Given the description of an element on the screen output the (x, y) to click on. 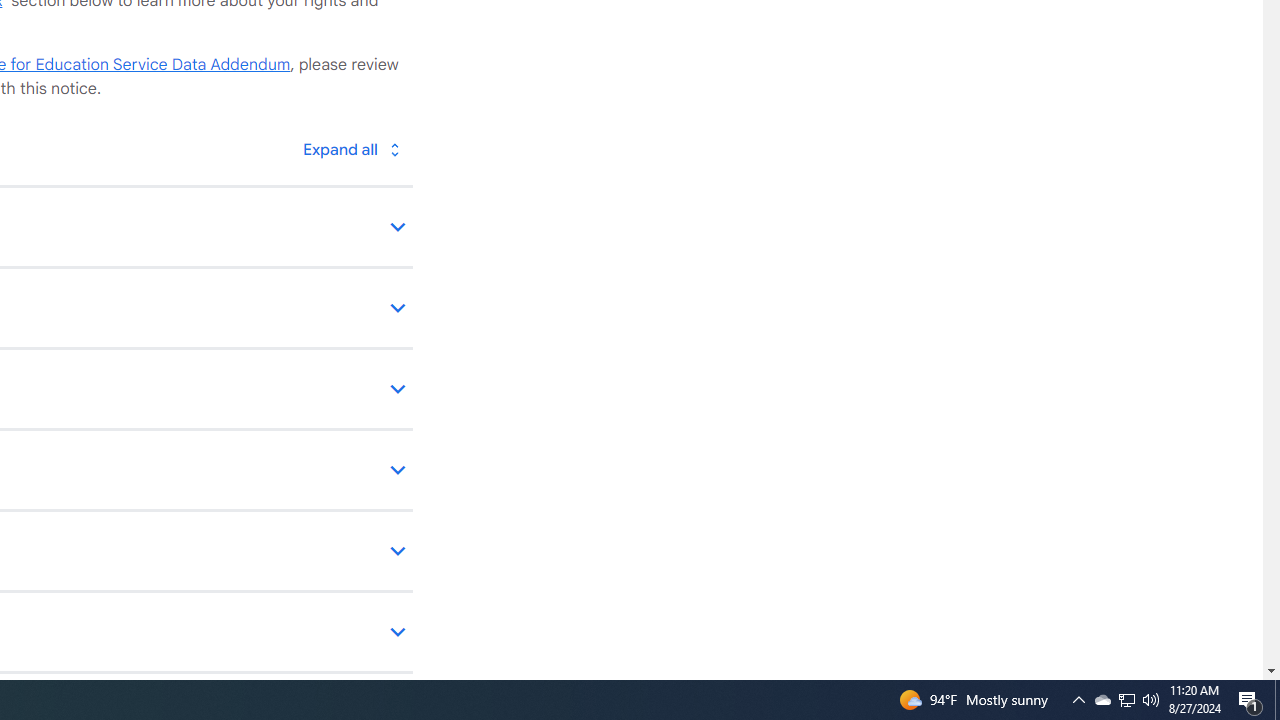
Toggle all (351, 148)
